Given the description of an element on the screen output the (x, y) to click on. 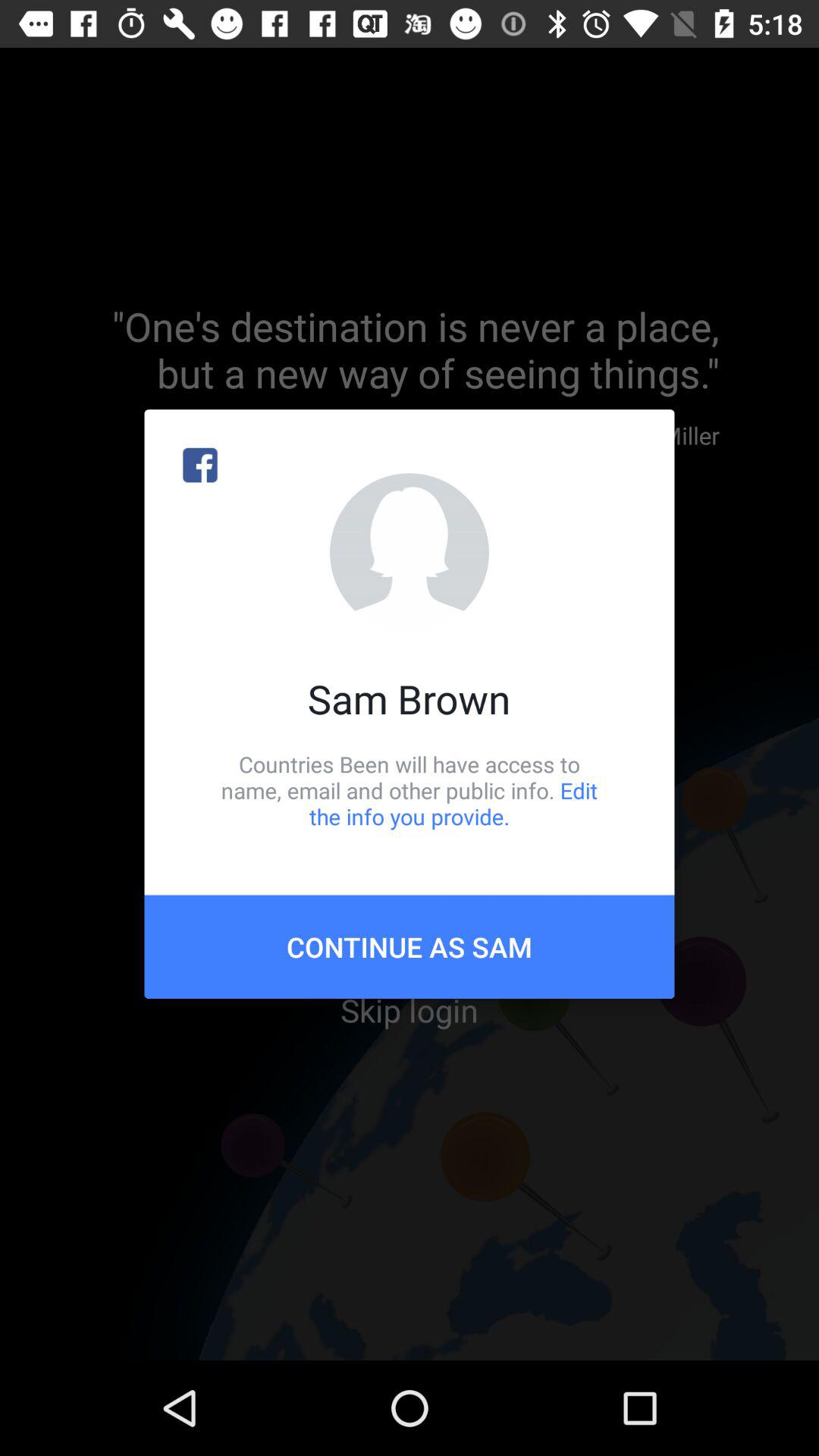
flip to countries been will (409, 790)
